Given the description of an element on the screen output the (x, y) to click on. 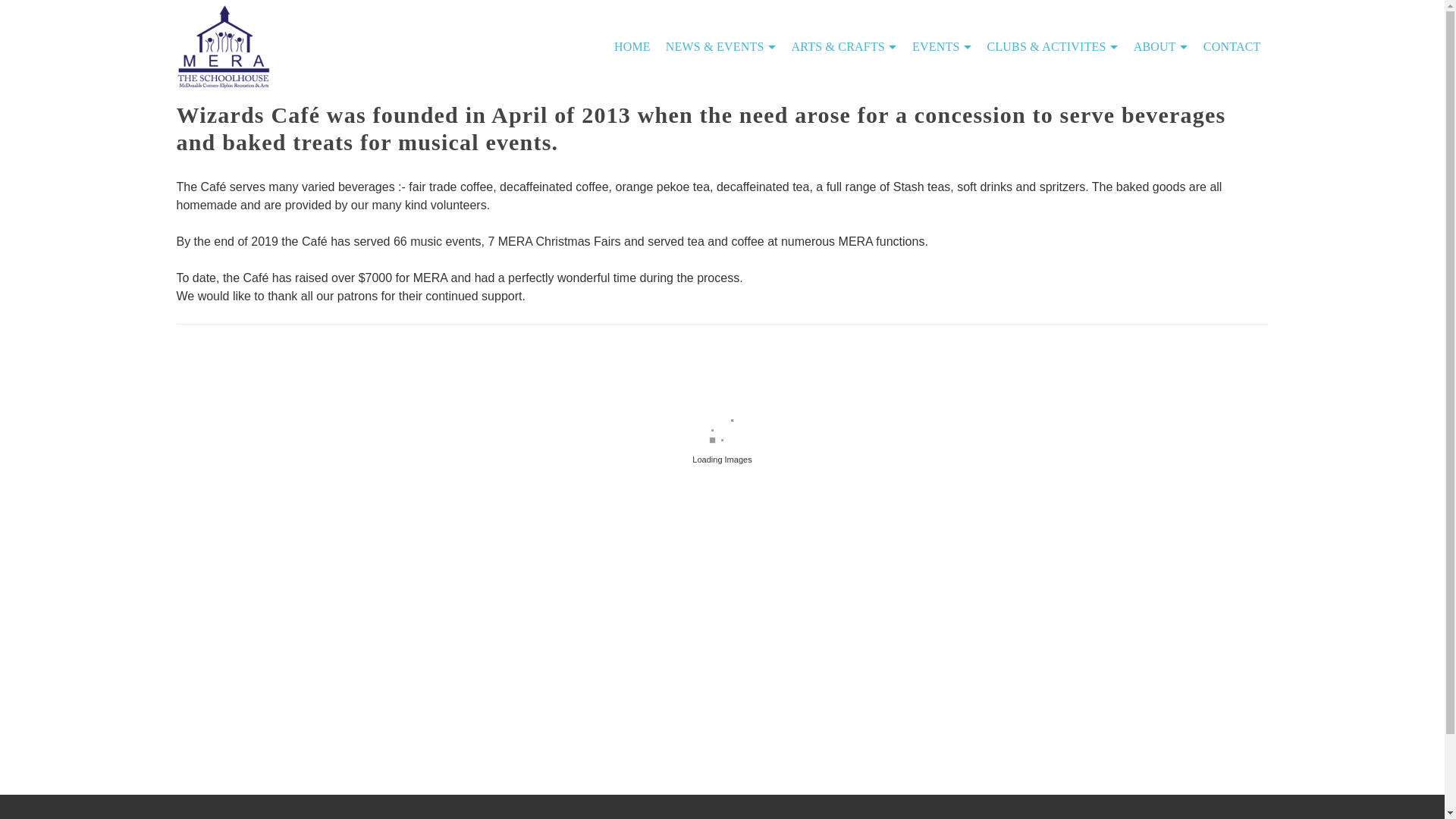
HOME (632, 46)
CONTACT (1231, 46)
EVENTS (941, 46)
ABOUT (1160, 46)
